Given the description of an element on the screen output the (x, y) to click on. 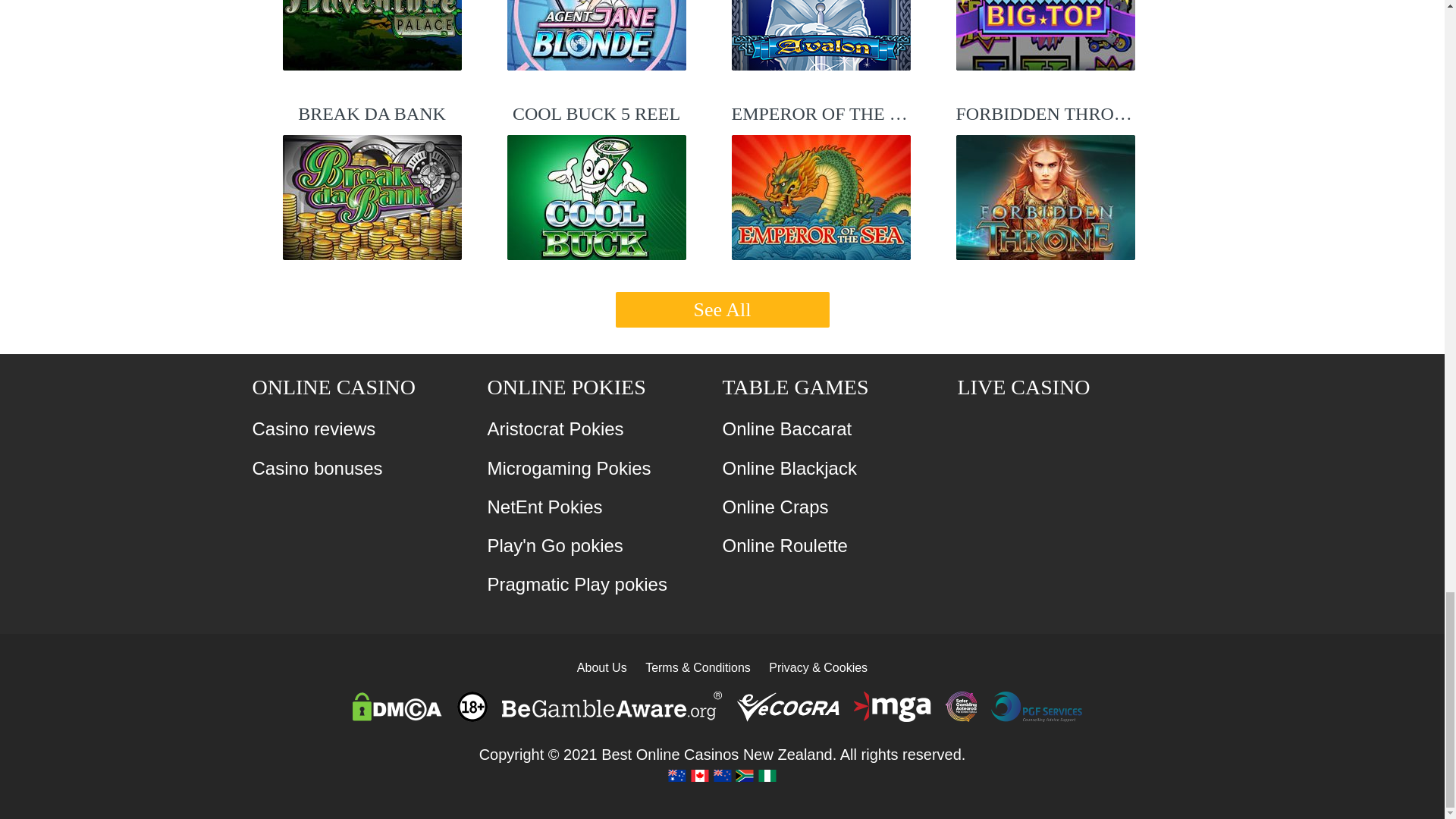
AVALON (820, 34)
AGENT JANE BLONDE (595, 34)
ADVENTURE PALACE (371, 34)
DMCA.com Protection Status (396, 705)
BIG TOP (1044, 34)
